Given the description of an element on the screen output the (x, y) to click on. 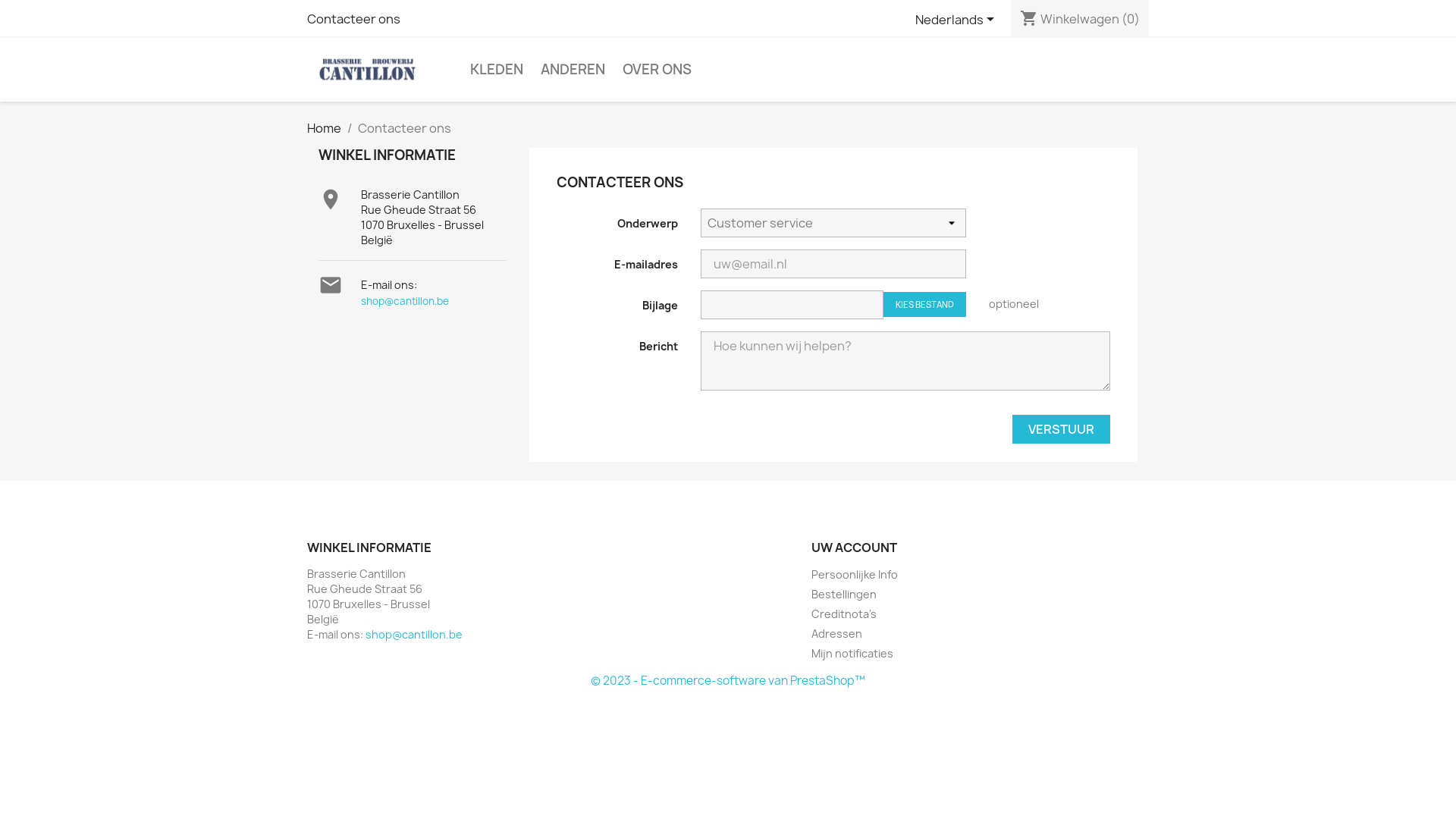
UW ACCOUNT Element type: text (854, 547)
Adressen Element type: text (836, 633)
Home Element type: text (324, 127)
Contacteer ons Element type: text (353, 18)
OVER ONS Element type: text (657, 69)
Creditnota's Element type: text (843, 613)
KLEDEN Element type: text (496, 69)
Verstuur Element type: text (1061, 428)
ANDEREN Element type: text (572, 69)
shop@cantillon.be Element type: text (404, 300)
Mijn notificaties Element type: text (852, 653)
Bestellingen Element type: text (843, 593)
Persoonlijke Info Element type: text (854, 574)
shop@cantillon.be Element type: text (413, 634)
